Given the description of an element on the screen output the (x, y) to click on. 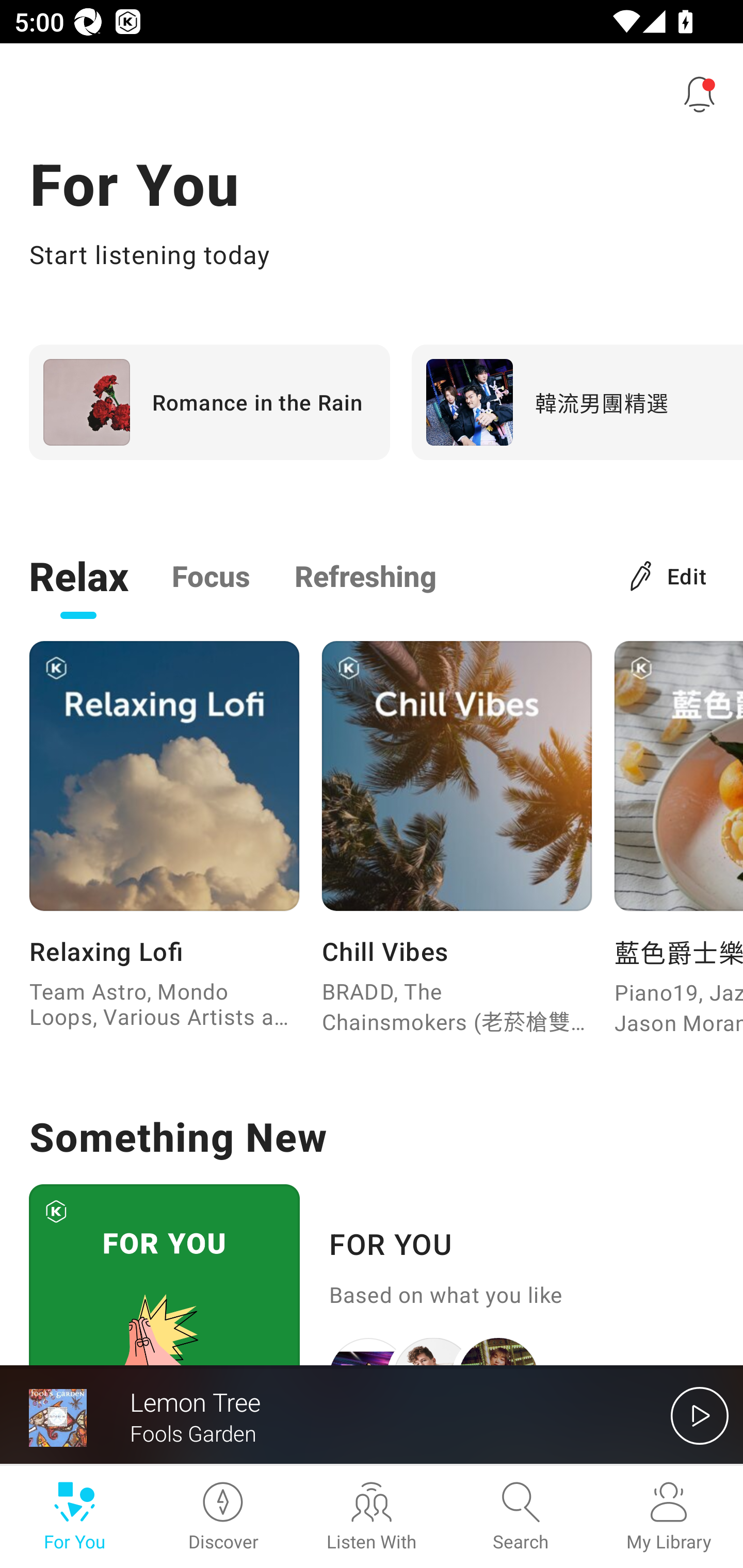
Notification (699, 93)
view_image Romance in the Rain (209, 401)
view_image 韓流男團精選 (577, 401)
Focus (211, 575)
Refreshing (365, 575)
Edit (668, 575)
開始播放 (699, 1415)
For You (74, 1517)
Discover (222, 1517)
Listen With (371, 1517)
Search (519, 1517)
My Library (668, 1517)
